Given the description of an element on the screen output the (x, y) to click on. 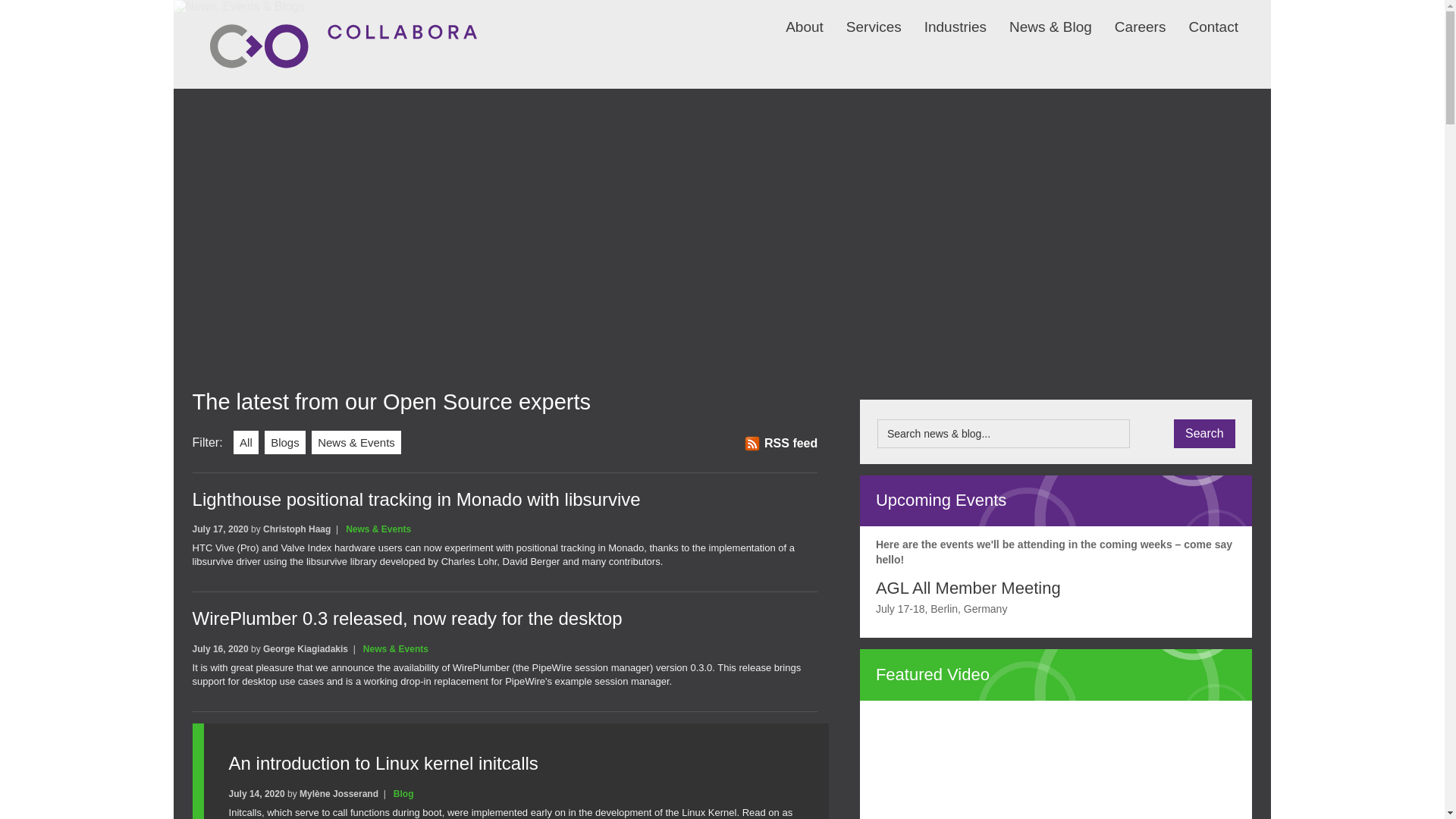
Search (1203, 433)
Navigate to the About page (793, 17)
Lighthouse positional tracking in Monado with libsurvive (416, 498)
All (245, 442)
Navigate to the Industries page (944, 17)
RSS feed (780, 442)
Contact (1201, 17)
Blogs (284, 442)
Careers (1129, 17)
About (793, 17)
